Given the description of an element on the screen output the (x, y) to click on. 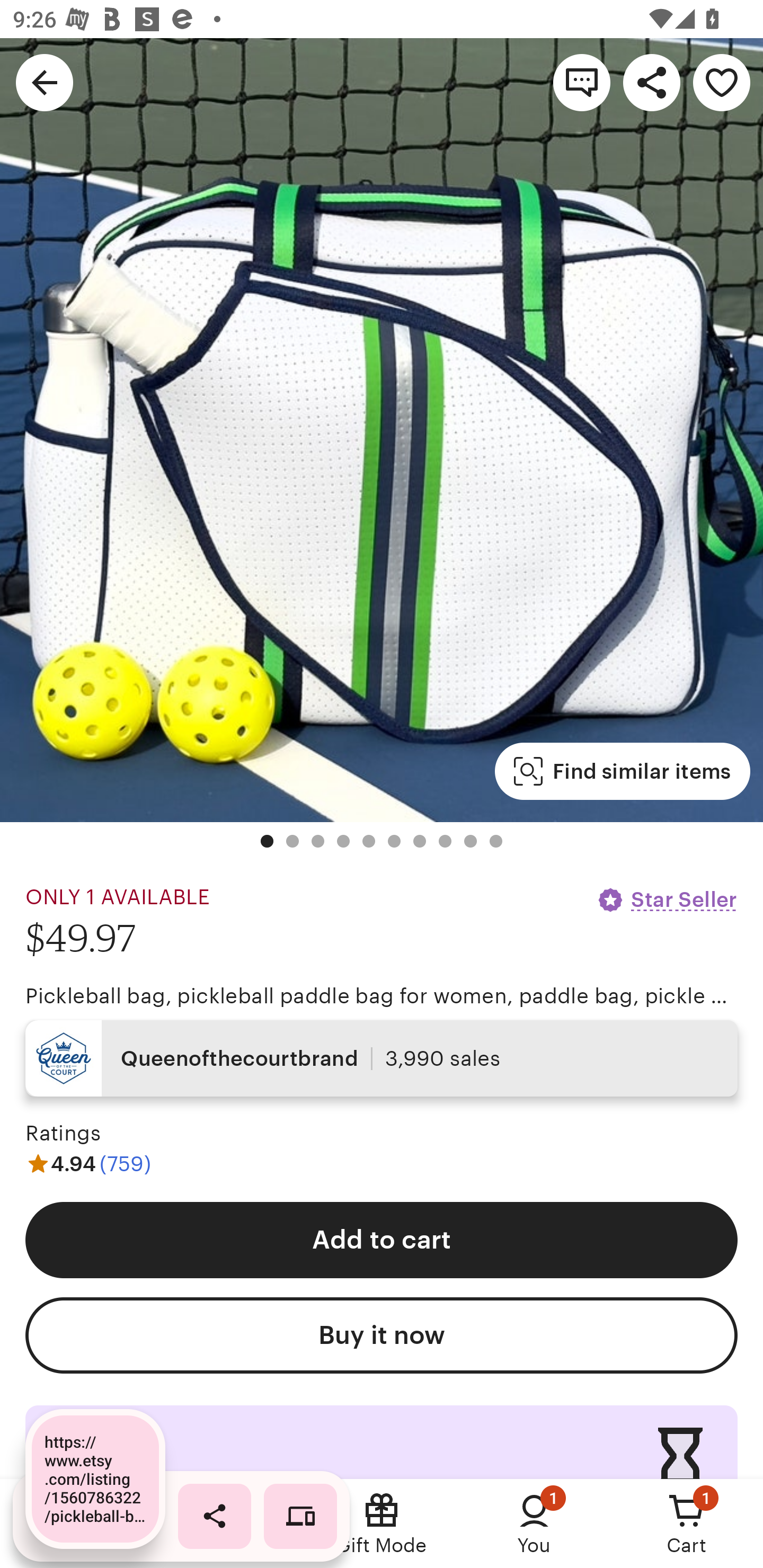
Navigate up (44, 81)
Contact shop (581, 81)
Share (651, 81)
Find similar items (622, 771)
Star Seller (666, 899)
Queenofthecourtbrand 3,990 sales (381, 1058)
Ratings (62, 1133)
4.94 (759) (88, 1163)
Add to cart (381, 1239)
Buy it now (381, 1334)
Deals (228, 1523)
Gift Mode (381, 1523)
You, 1 new notification You (533, 1523)
Cart, 1 new notification Cart (686, 1523)
